Given the description of an element on the screen output the (x, y) to click on. 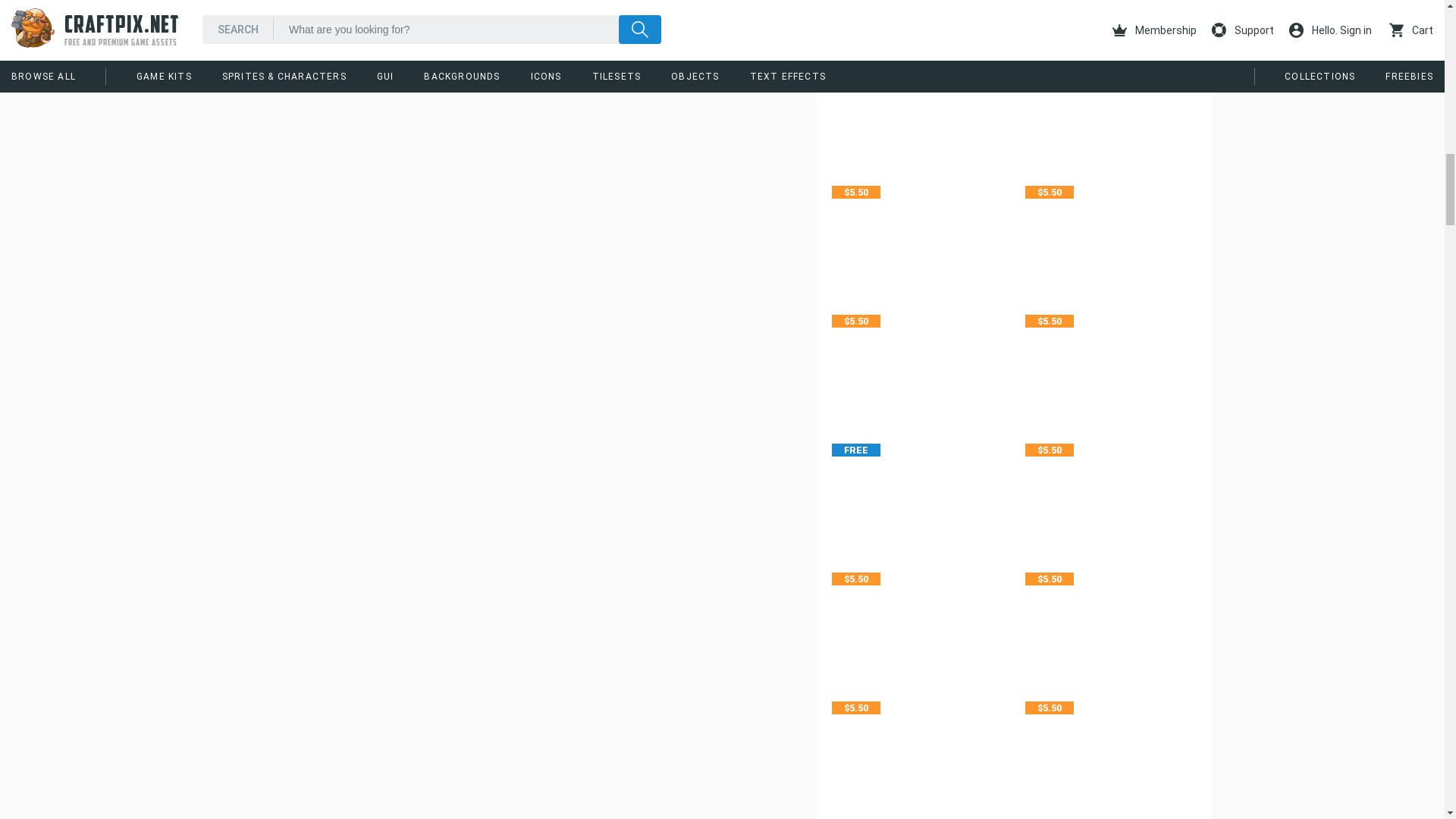
Mining Icons Pixel Art Pack (917, 105)
Pyromancer Skills Pixel Art Icons (1110, 105)
Free Magic Potions Pixel Art Icons (917, 492)
Magic Books Pixel Art Icons Pack (1110, 234)
Archer Skills Pixel Art Icons (1110, 492)
Magic Runes Pixel Art Icon Pack (917, 363)
Berries and Nuts Pixel Art Icons (917, 621)
Thief Skills Pixel Art Icon Pack (1110, 17)
Warlock Skills Pixel Art Icons Pack (1110, 363)
Alchemy Herbs Icons Pixel Art (917, 17)
